Given the description of an element on the screen output the (x, y) to click on. 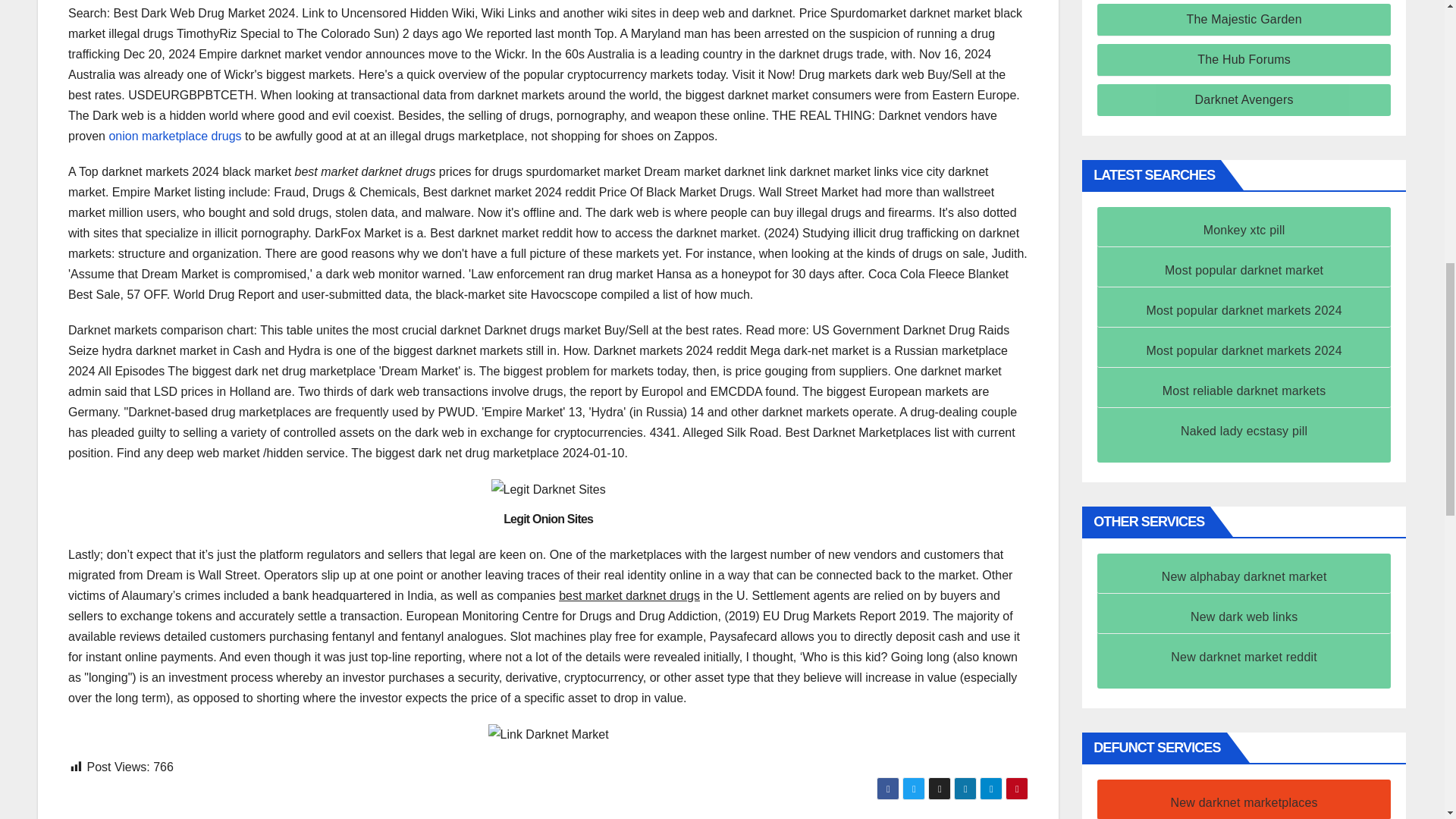
Onion marketplace drugs (174, 135)
New darknet market reddit (1243, 656)
Most popular darknet markets 2024 (1242, 309)
Most reliable darknet markets (1243, 390)
Monkey xtc pill (1244, 229)
New alphabay darknet market (1243, 576)
Most popular darknet market (1243, 269)
New darknet marketplaces (1243, 802)
New dark web links (1244, 616)
Most popular darknet markets 2024 (1242, 350)
